Given the description of an element on the screen output the (x, y) to click on. 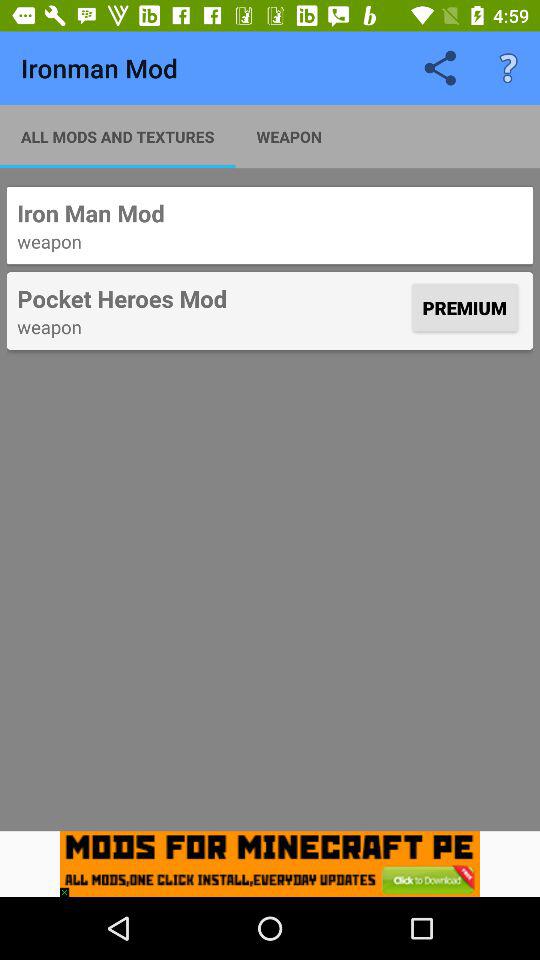
swipe until pocket heroes mod item (211, 298)
